Given the description of an element on the screen output the (x, y) to click on. 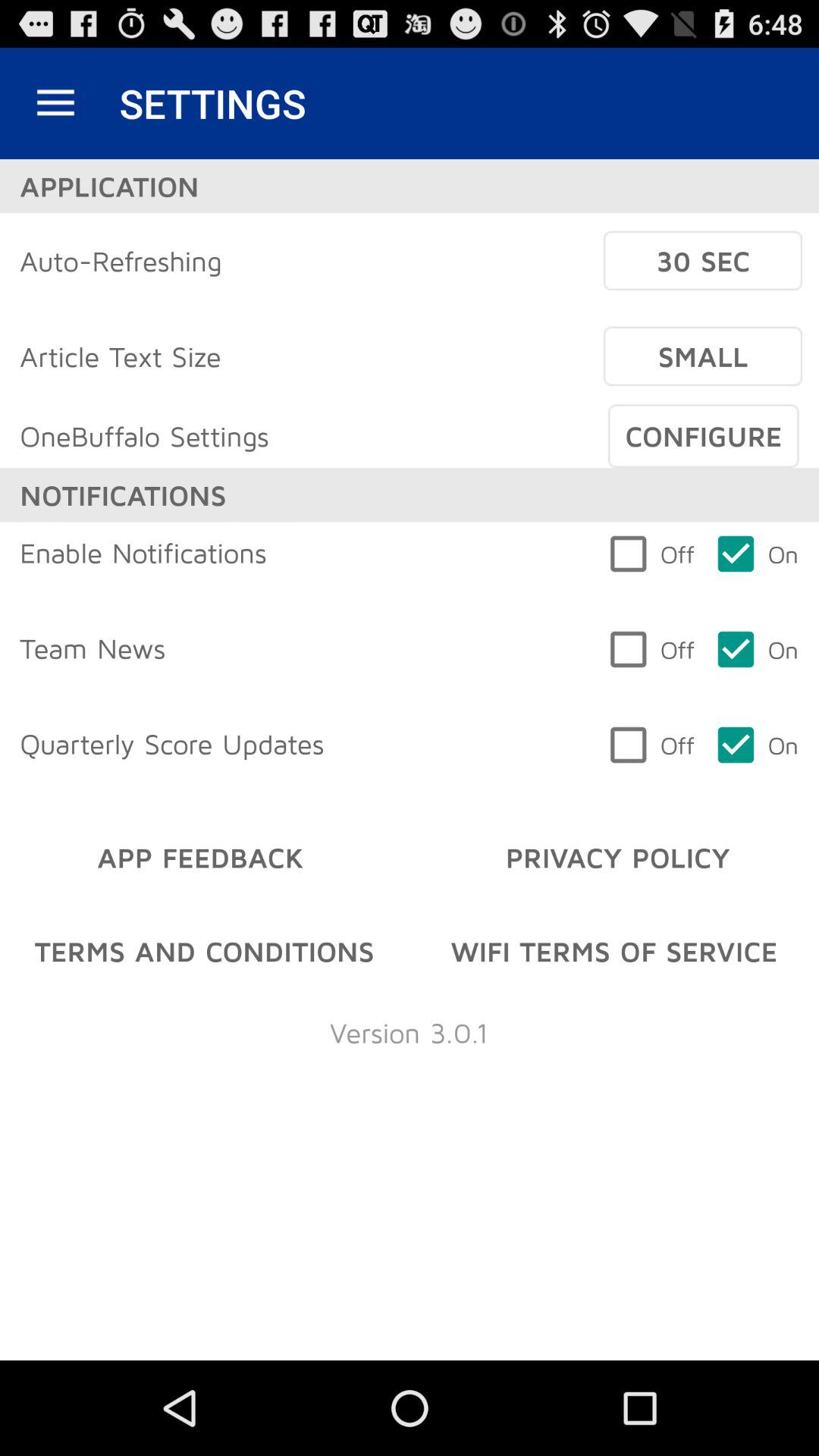
select the version 3 0 (408, 1032)
